Given the description of an element on the screen output the (x, y) to click on. 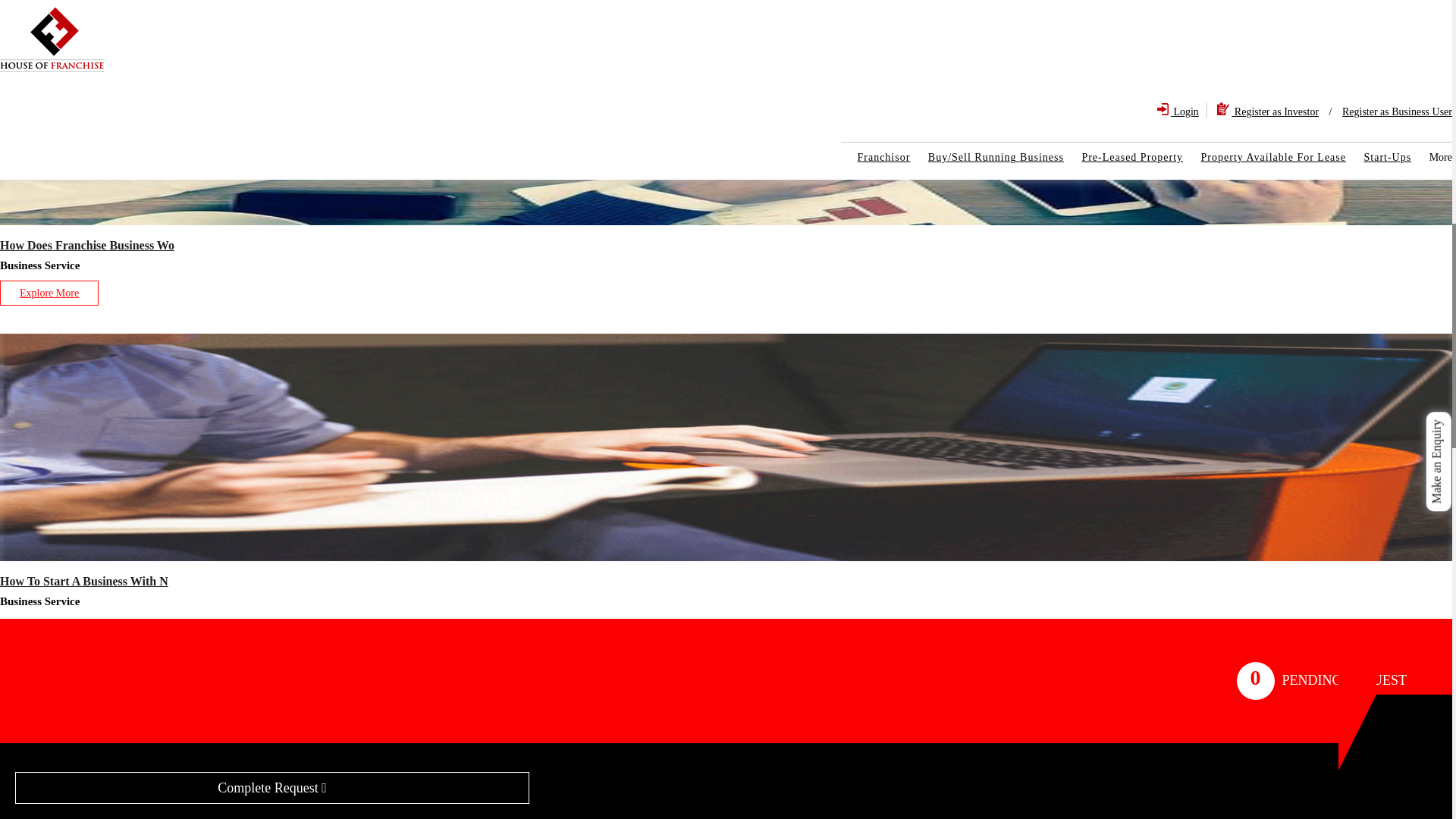
Explore More (49, 292)
How Does Franchise Business Wo (87, 245)
